Given the description of an element on the screen output the (x, y) to click on. 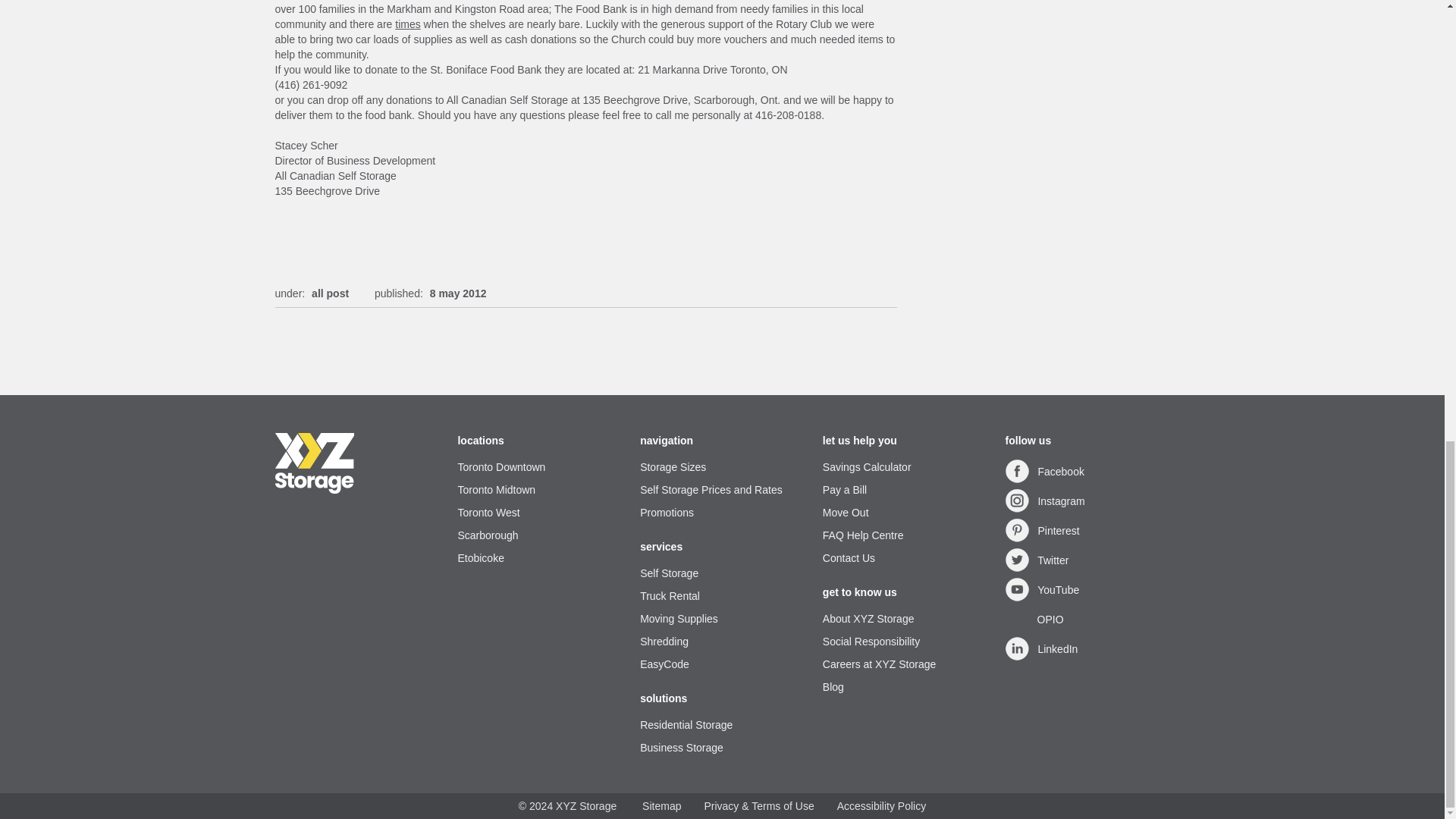
Toronto Midtown (539, 489)
Toronto Downtown (539, 467)
all post (330, 293)
locations (539, 440)
times (407, 24)
Toronto West (539, 512)
